Given the description of an element on the screen output the (x, y) to click on. 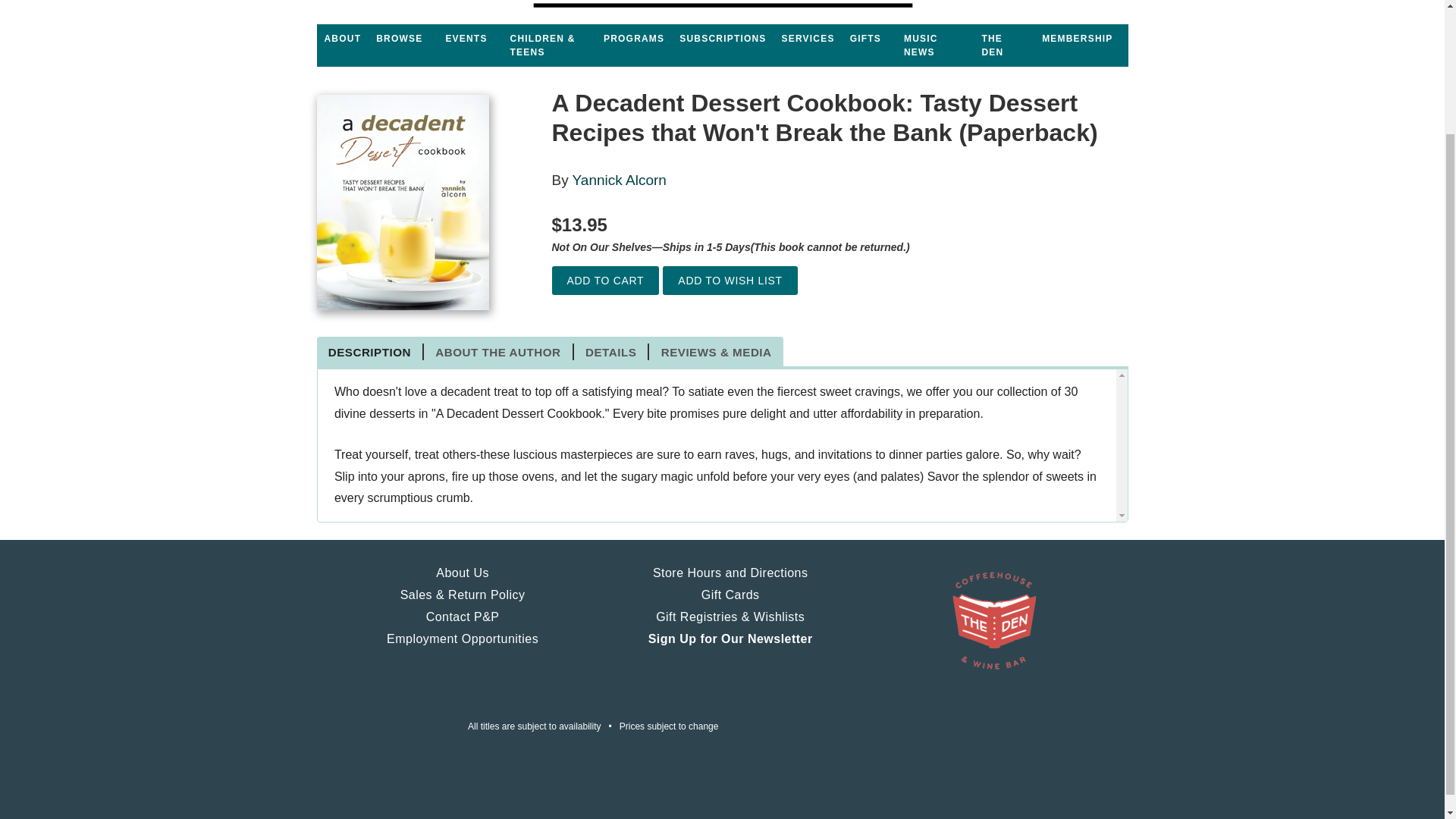
Browse our shelves (398, 38)
See our event calendar (465, 38)
Add to Wish List (729, 280)
See information about our programs (633, 38)
EVENTS (465, 38)
Children and Teens Department (548, 45)
SUBSCRIPTIONS (722, 38)
ABOUT (343, 38)
Add to Cart (605, 280)
PROGRAMS (633, 38)
